Given the description of an element on the screen output the (x, y) to click on. 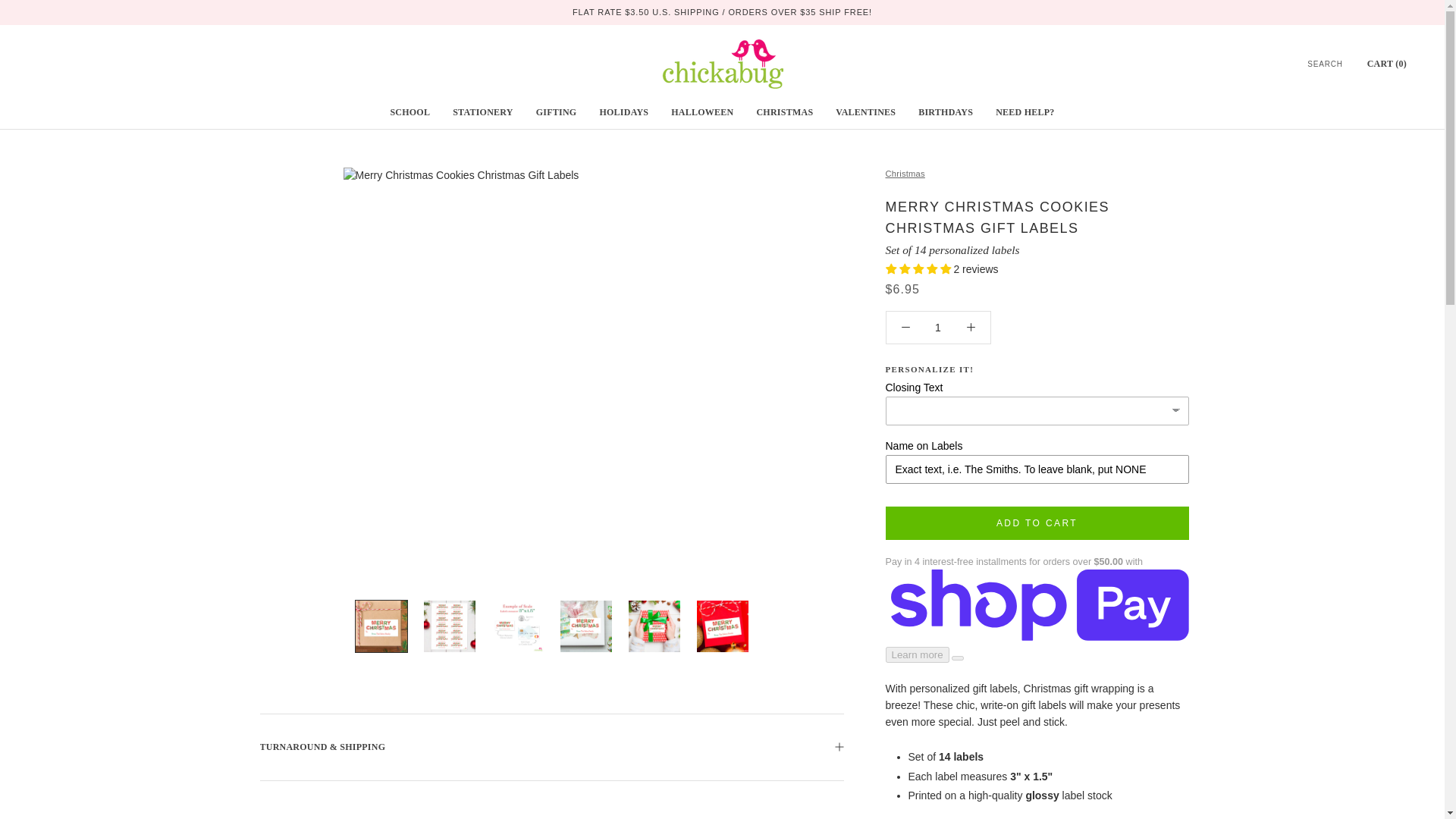
Back to the Christmas collection page (904, 173)
1 (938, 327)
Christmas (784, 112)
Valentines (865, 112)
Stationery (482, 112)
Gifting (556, 112)
School (409, 112)
Holidays (623, 112)
Halloween (701, 112)
Birthdays (945, 112)
Need Help? (1024, 112)
